Given the description of an element on the screen output the (x, y) to click on. 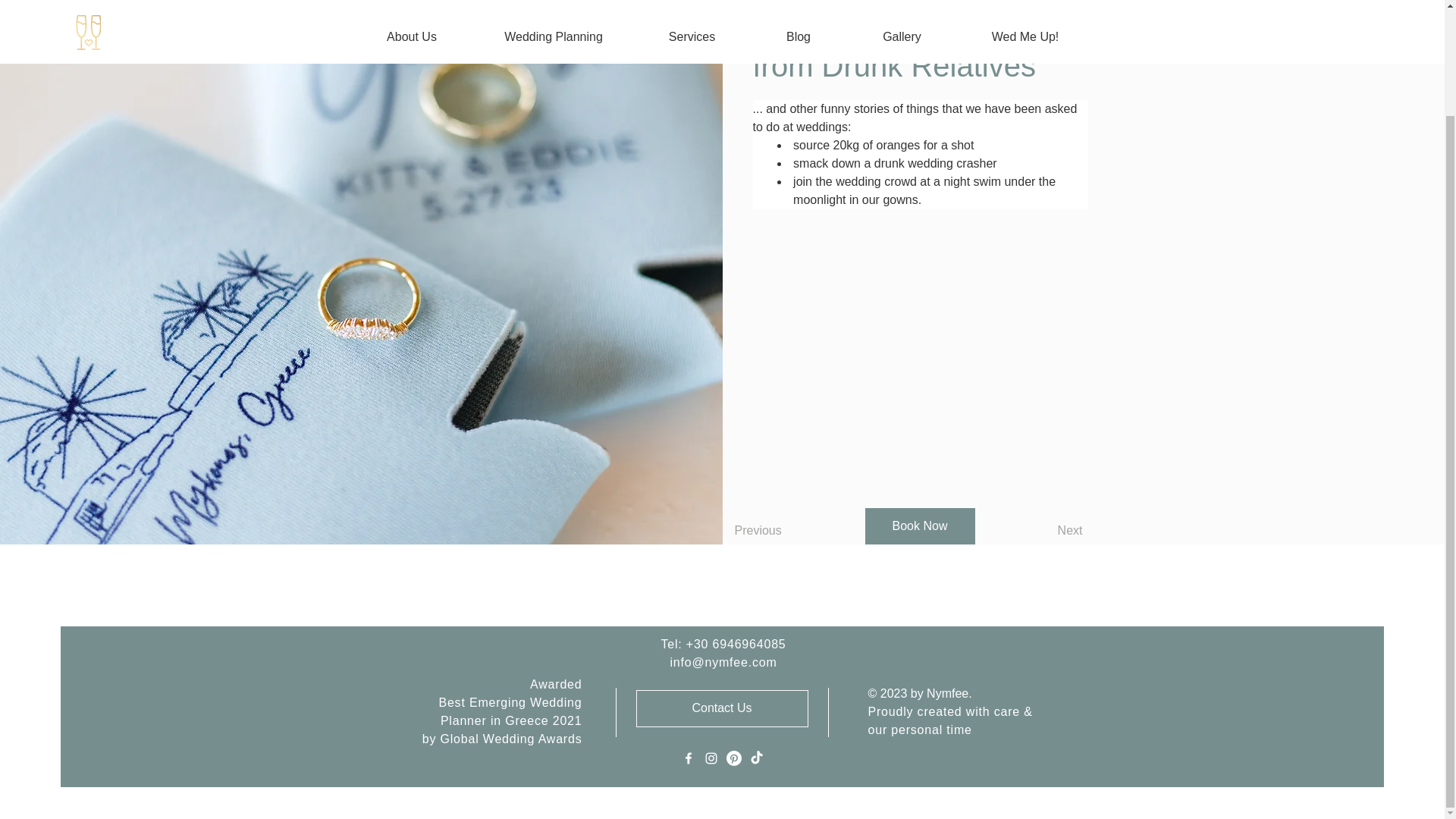
Contact Us (721, 708)
Previous (777, 530)
Next (1039, 530)
Book Now (919, 525)
